Given the description of an element on the screen output the (x, y) to click on. 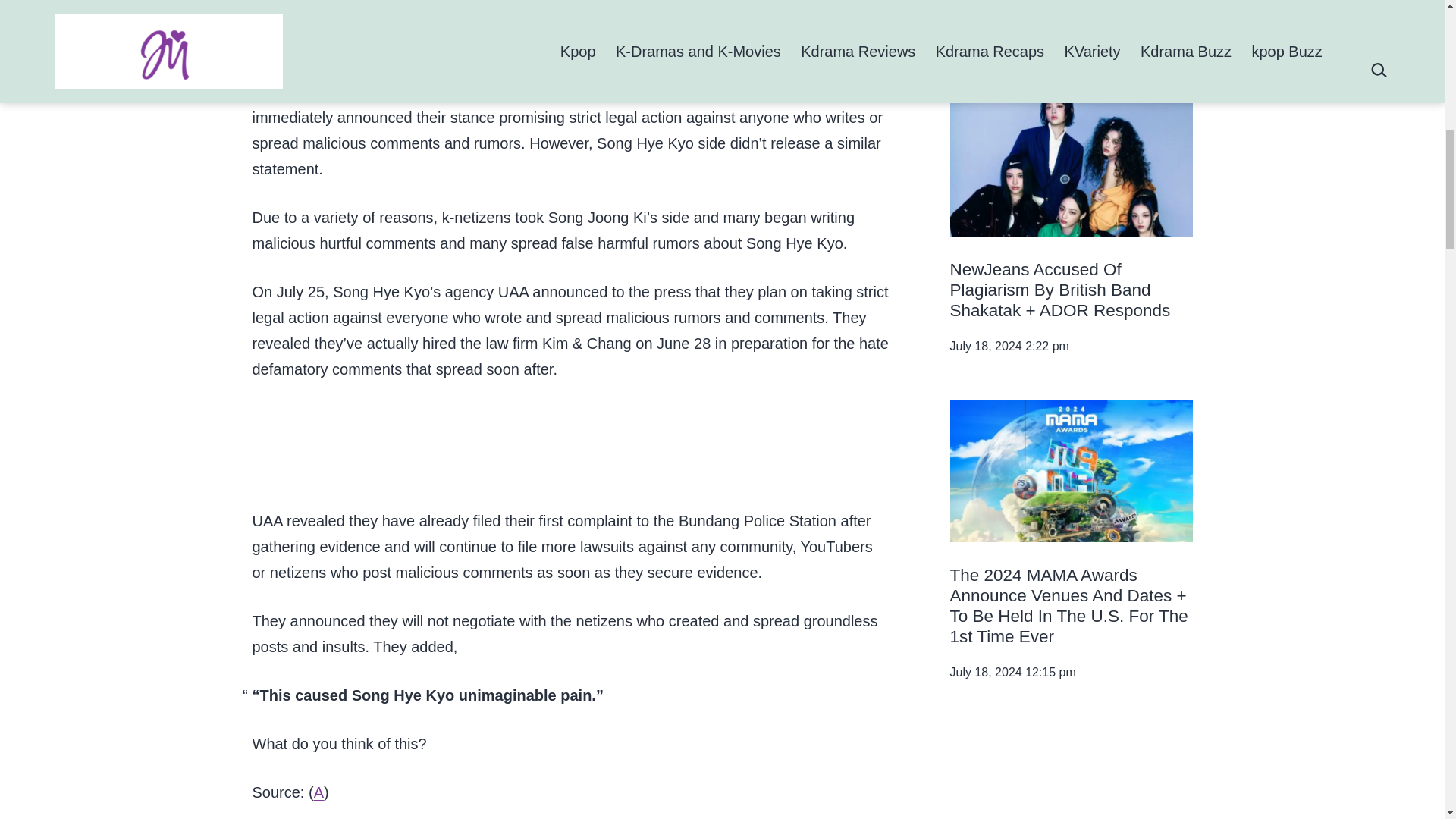
NewJeans5 (1070, 166)
2024 MAMA AWARDS (1070, 471)
stray kids (1070, 772)
